Given the description of an element on the screen output the (x, y) to click on. 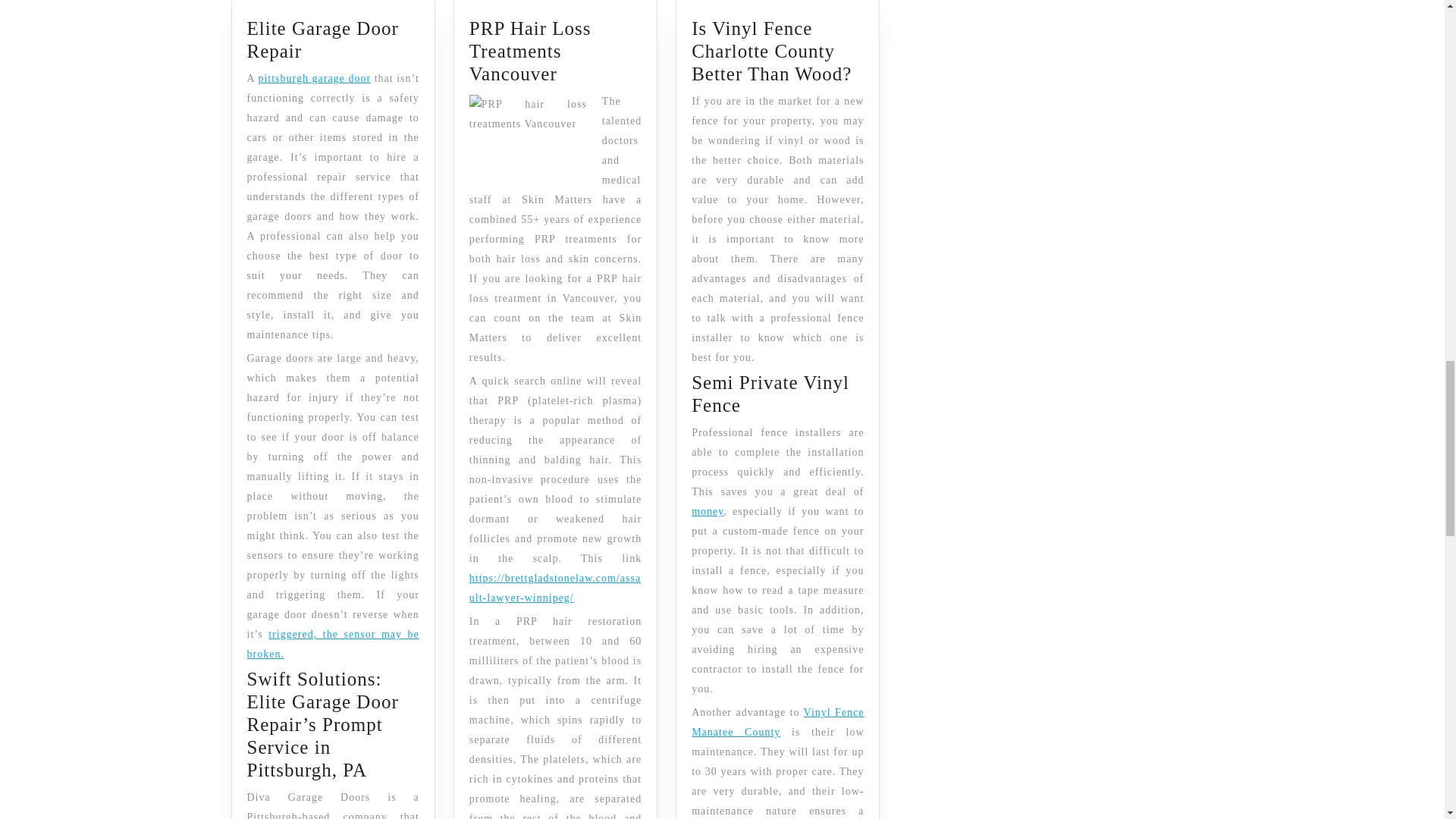
pittsburgh garage door (314, 78)
Vinyl Fence Manatee County (322, 39)
money (777, 721)
triggered, the sensor may be broken. (707, 511)
